Given the description of an element on the screen output the (x, y) to click on. 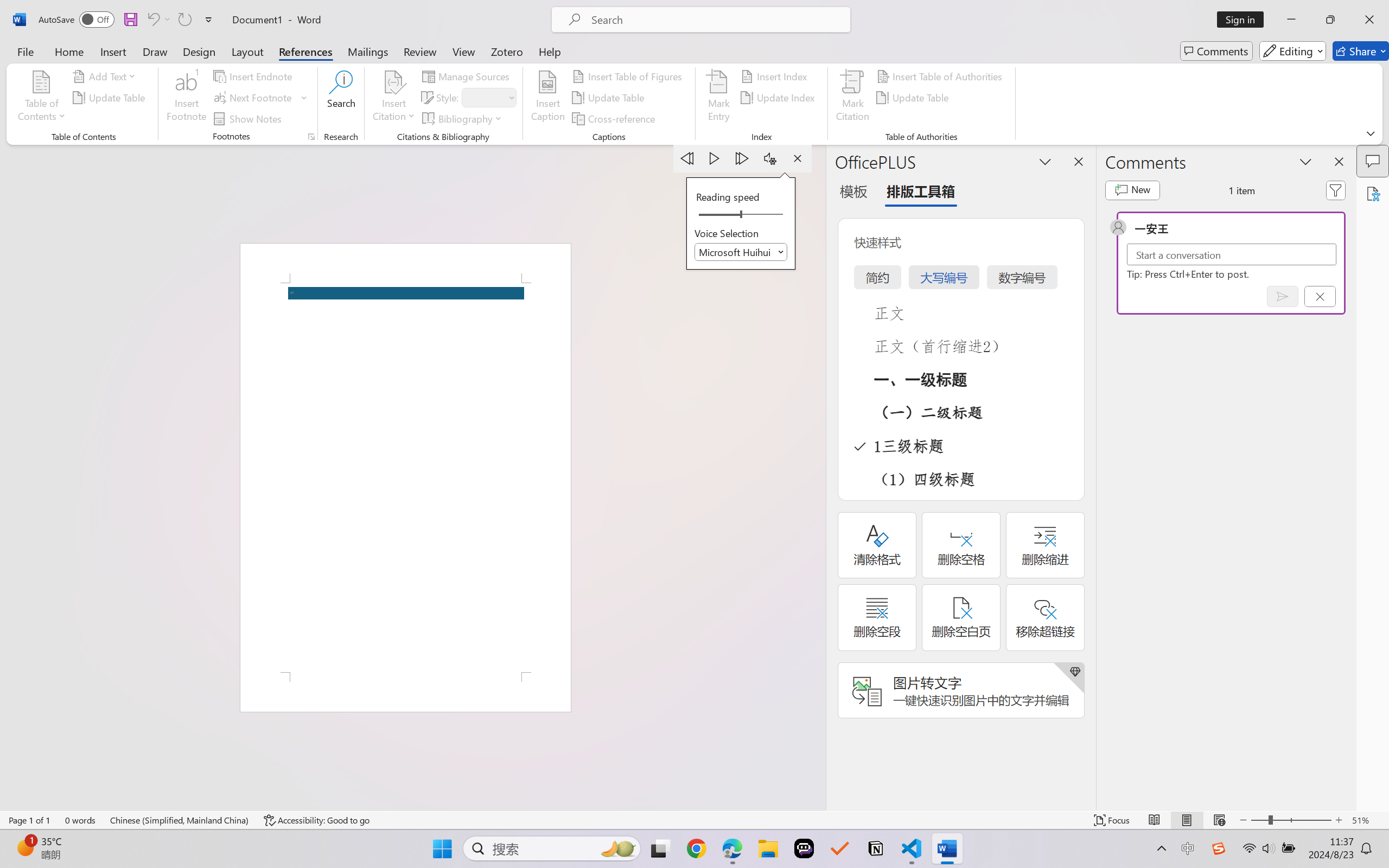
Cross-reference... (615, 118)
Insert Table of Authorities... (941, 75)
Mark Citation... (852, 97)
Table of Contents (42, 97)
Mark Entry... (718, 97)
Manage Sources... (467, 75)
